Given the description of an element on the screen output the (x, y) to click on. 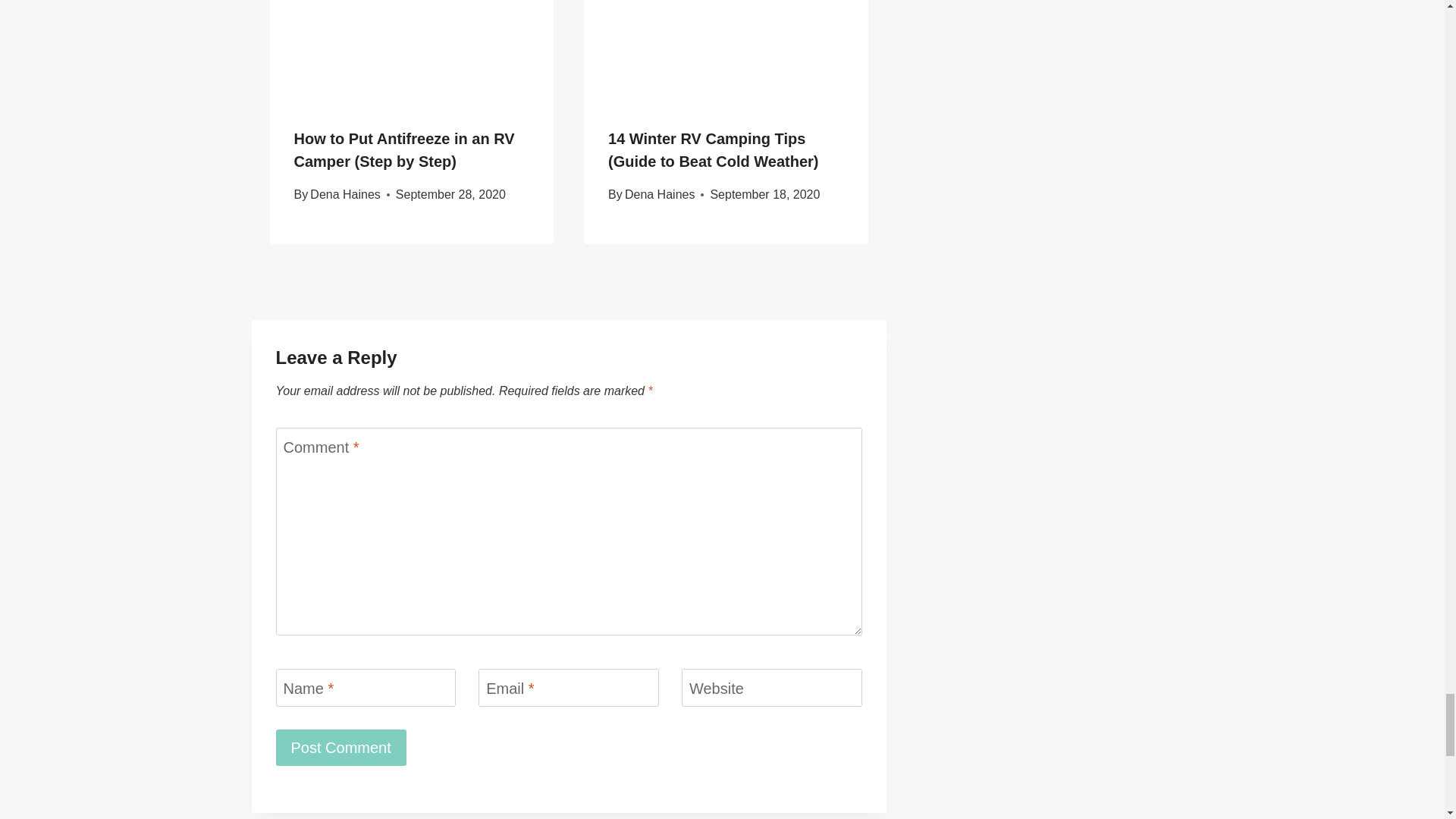
Post Comment (341, 747)
